Given the description of an element on the screen output the (x, y) to click on. 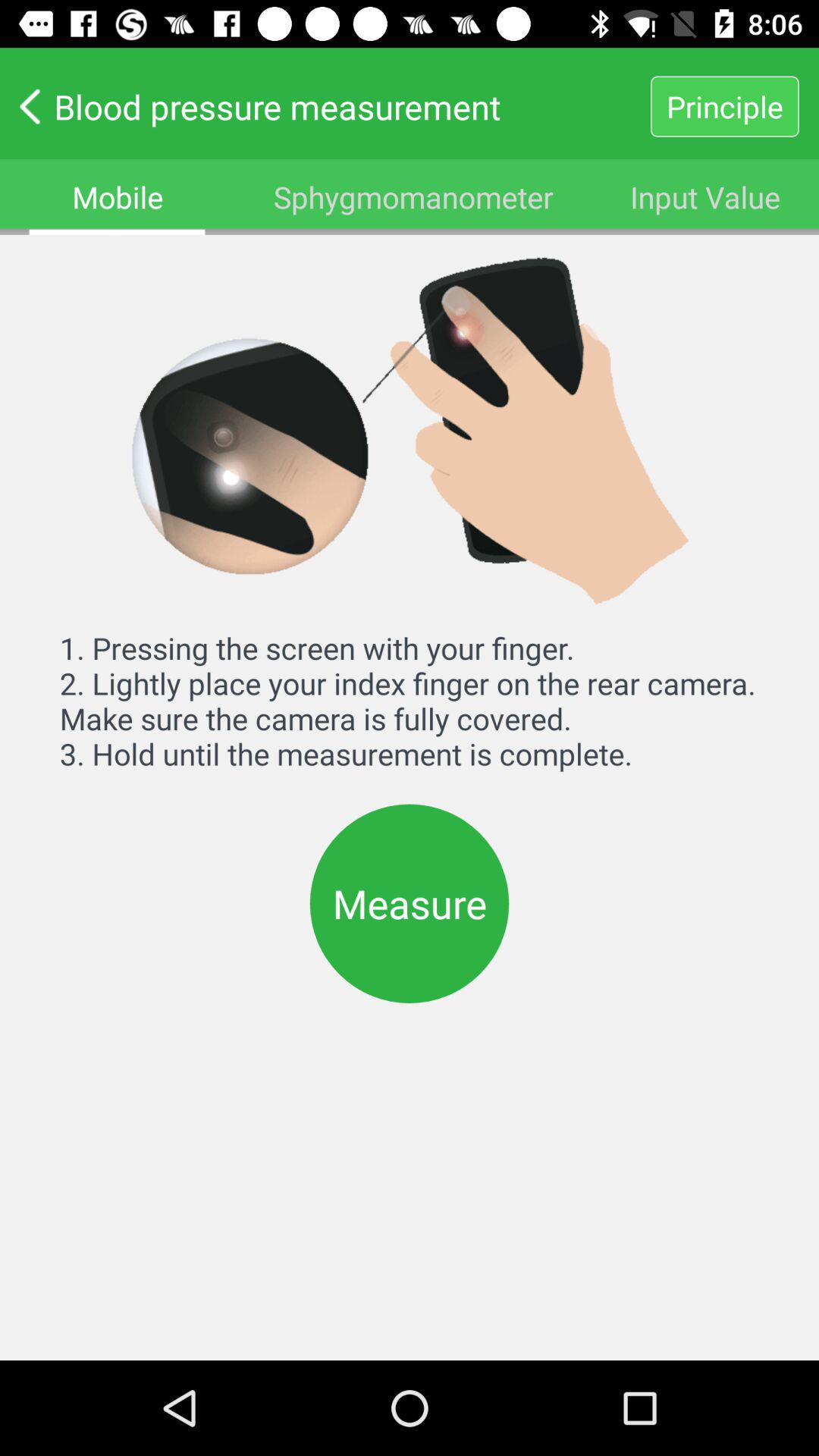
flip until the blood pressure measurement item (325, 106)
